Given the description of an element on the screen output the (x, y) to click on. 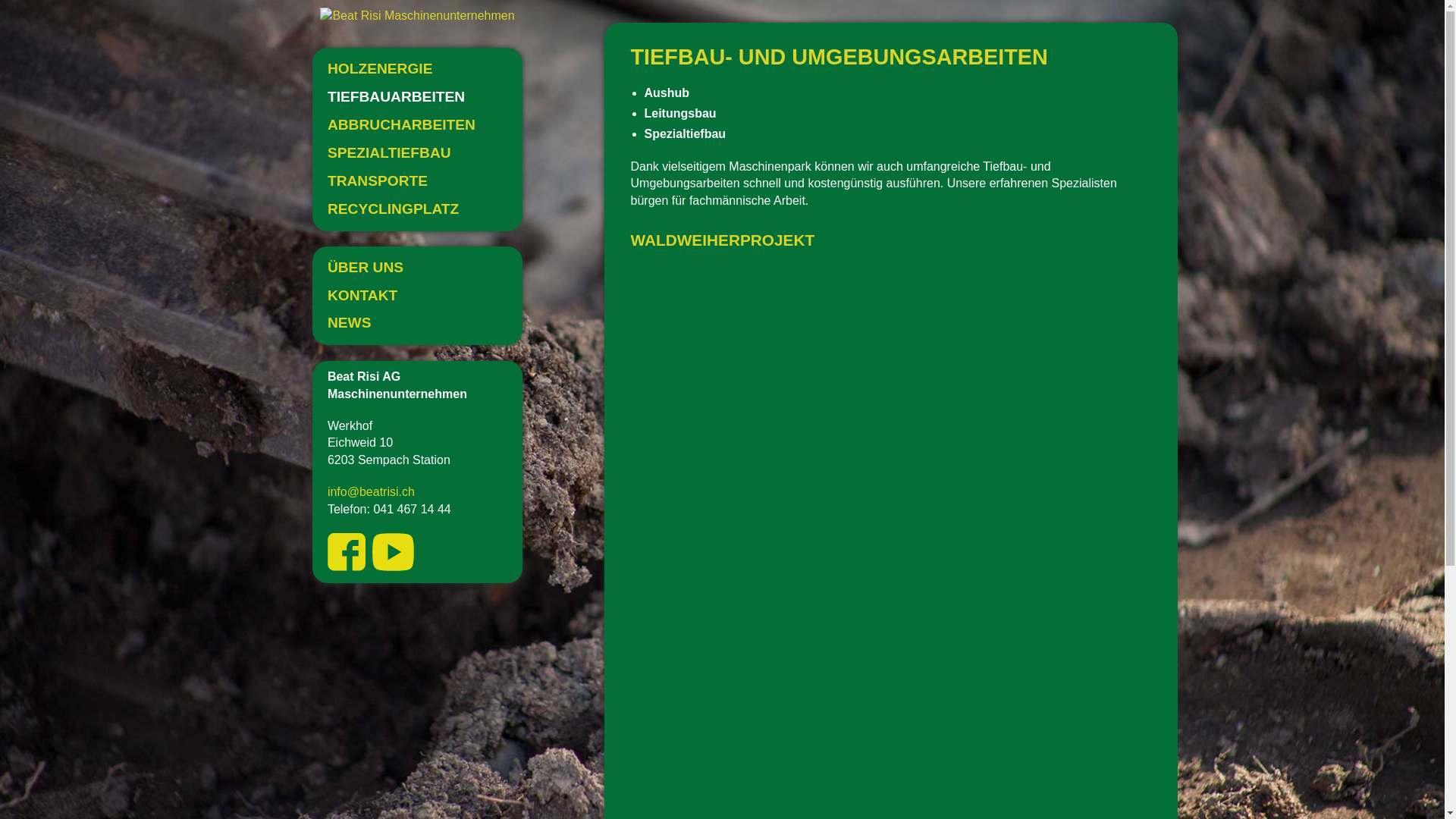
Beat Risi Maschinenunternehmen Element type: hover (417, 15)
RECYCLINGPLATZ Element type: text (417, 209)
info@beatrisi.ch Element type: text (370, 491)
Beat Risi AG auf Facebook Element type: hover (346, 552)
TIEFBAUARBEITEN Element type: text (417, 97)
ABBRUCHARBEITEN Element type: text (417, 125)
HOLZENERGIE Element type: text (417, 69)
KONTAKT Element type: text (417, 296)
TRANSPORTE Element type: text (417, 181)
Beat Risi AG auf Youtube Element type: hover (393, 552)
SPEZIALTIEFBAU Element type: text (417, 153)
NEWS Element type: text (417, 323)
